Given the description of an element on the screen output the (x, y) to click on. 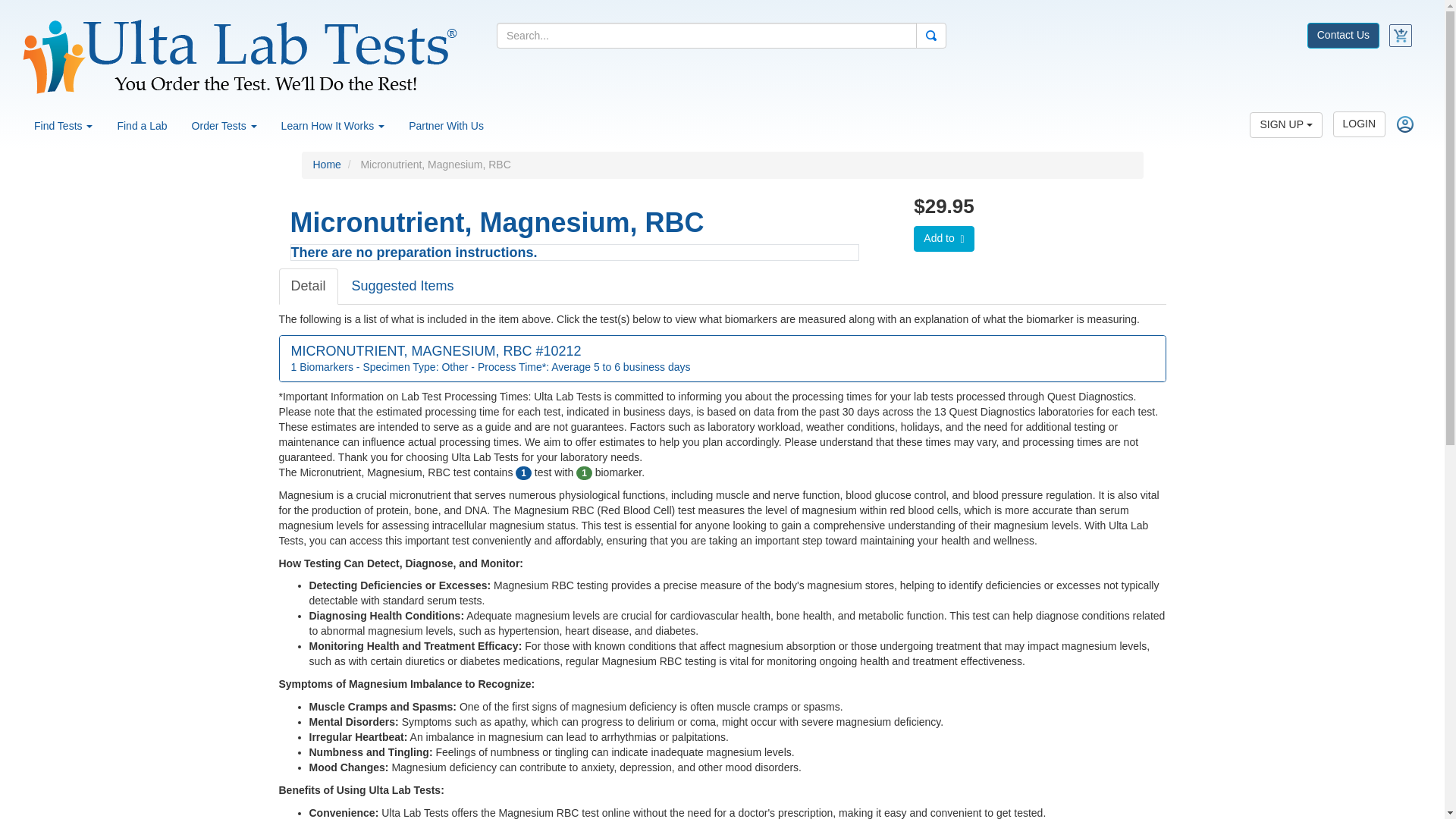
Find Tests (63, 126)
Contact Us (1342, 33)
Add to Cart (944, 238)
Search (930, 35)
